Given the description of an element on the screen output the (x, y) to click on. 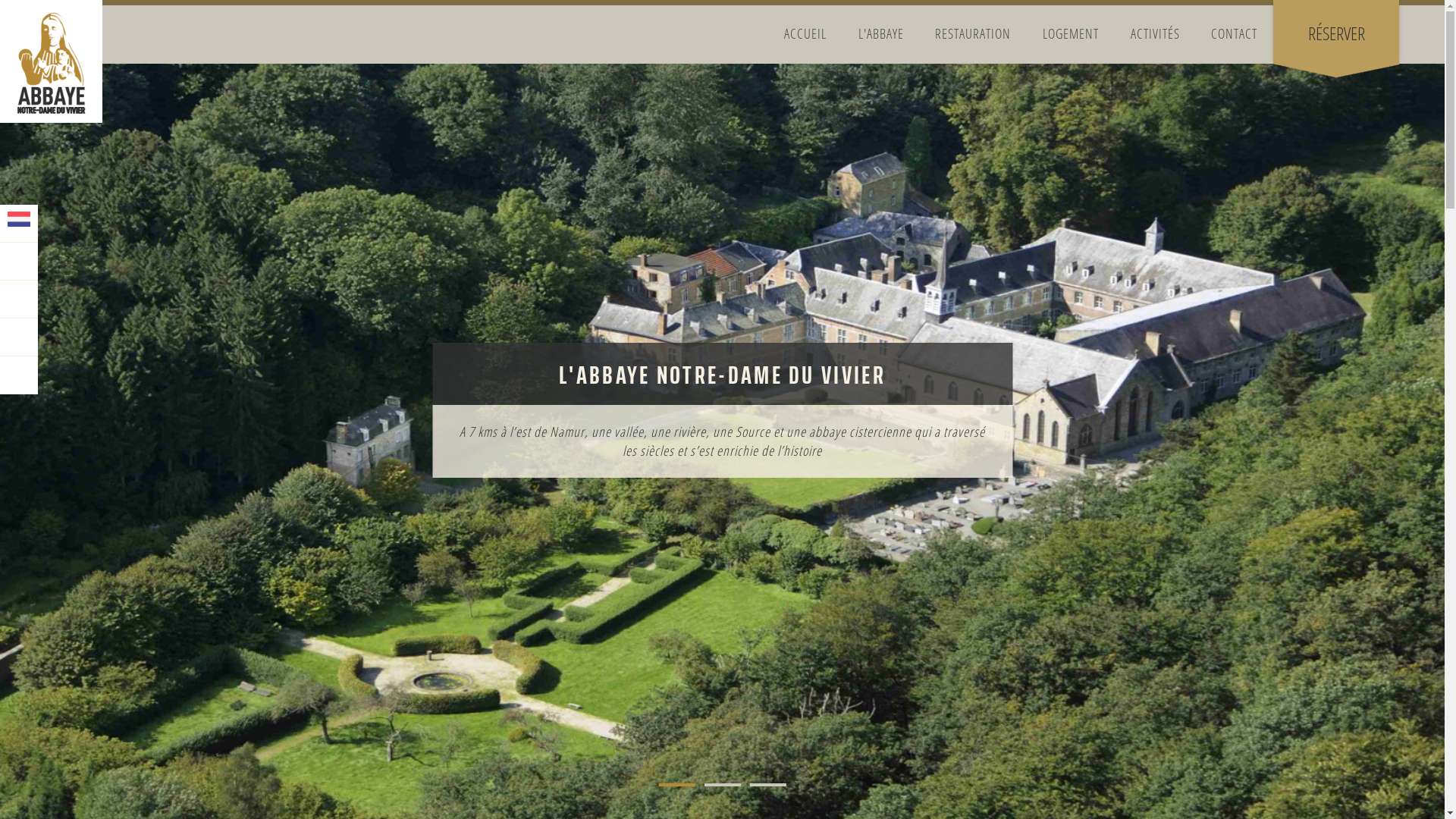
CONTACT Element type: text (1234, 33)
RESTAURATION Element type: text (973, 33)
L'ABBAYE Element type: text (880, 33)
ACCUEIL Element type: text (805, 33)
1 Element type: text (676, 784)
2 Element type: text (721, 784)
3 Element type: text (767, 784)
LOGEMENT Element type: text (1070, 33)
Abbaye Notre Dame Du Vivier  Element type: hover (51, 61)
